Given the description of an element on the screen output the (x, y) to click on. 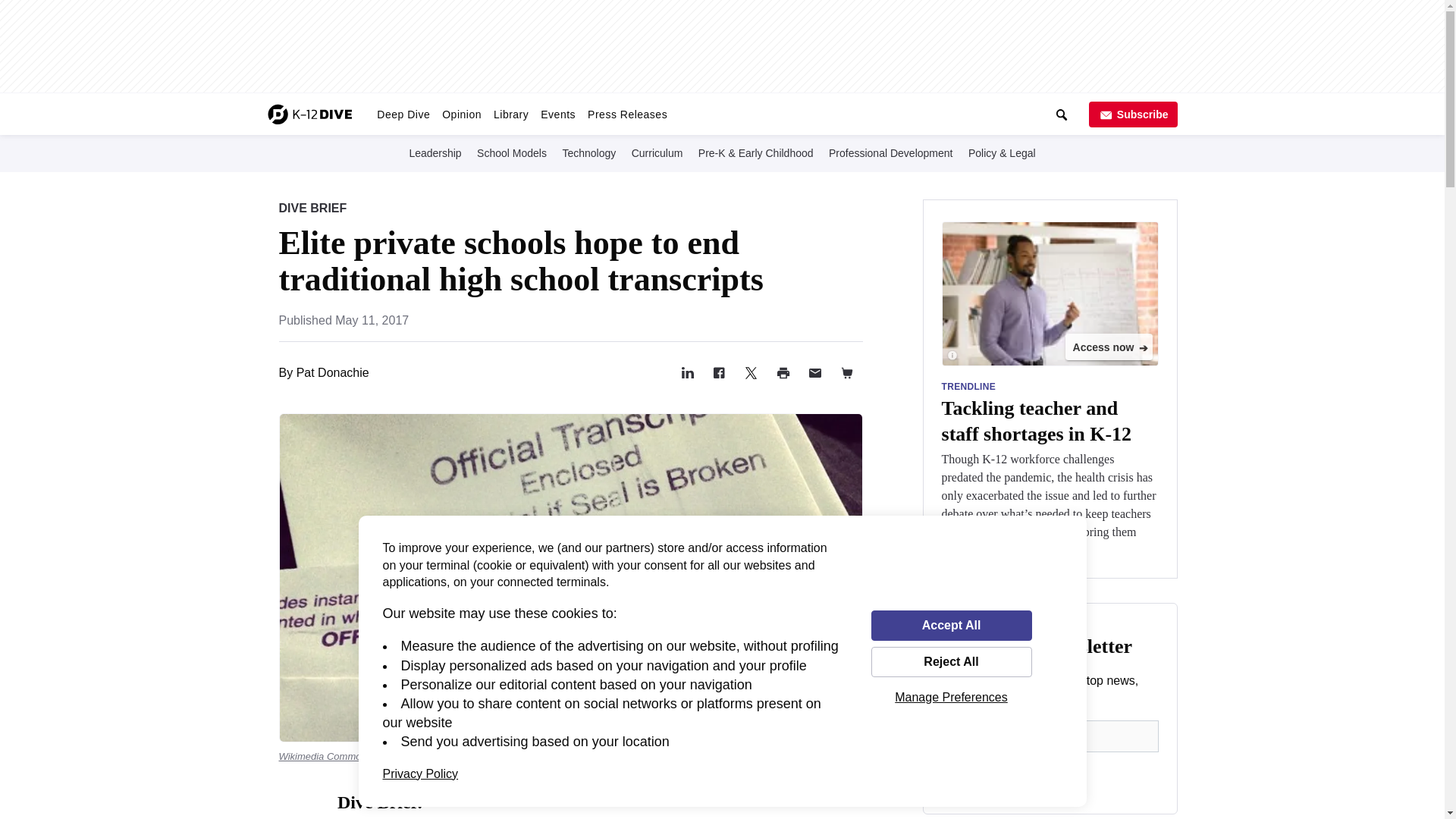
Leadership (435, 152)
Curriculum (656, 152)
Events (557, 114)
Wikimedia Commons user Tony Webster (368, 756)
Technology (588, 152)
Professional Development (890, 152)
School Models (512, 152)
Opinion (461, 114)
Accept All (950, 625)
Press Releases (626, 114)
Subscribe (1132, 114)
Reject All (950, 662)
Manage Preferences (950, 697)
Privacy Policy (419, 773)
Library (510, 114)
